Given the description of an element on the screen output the (x, y) to click on. 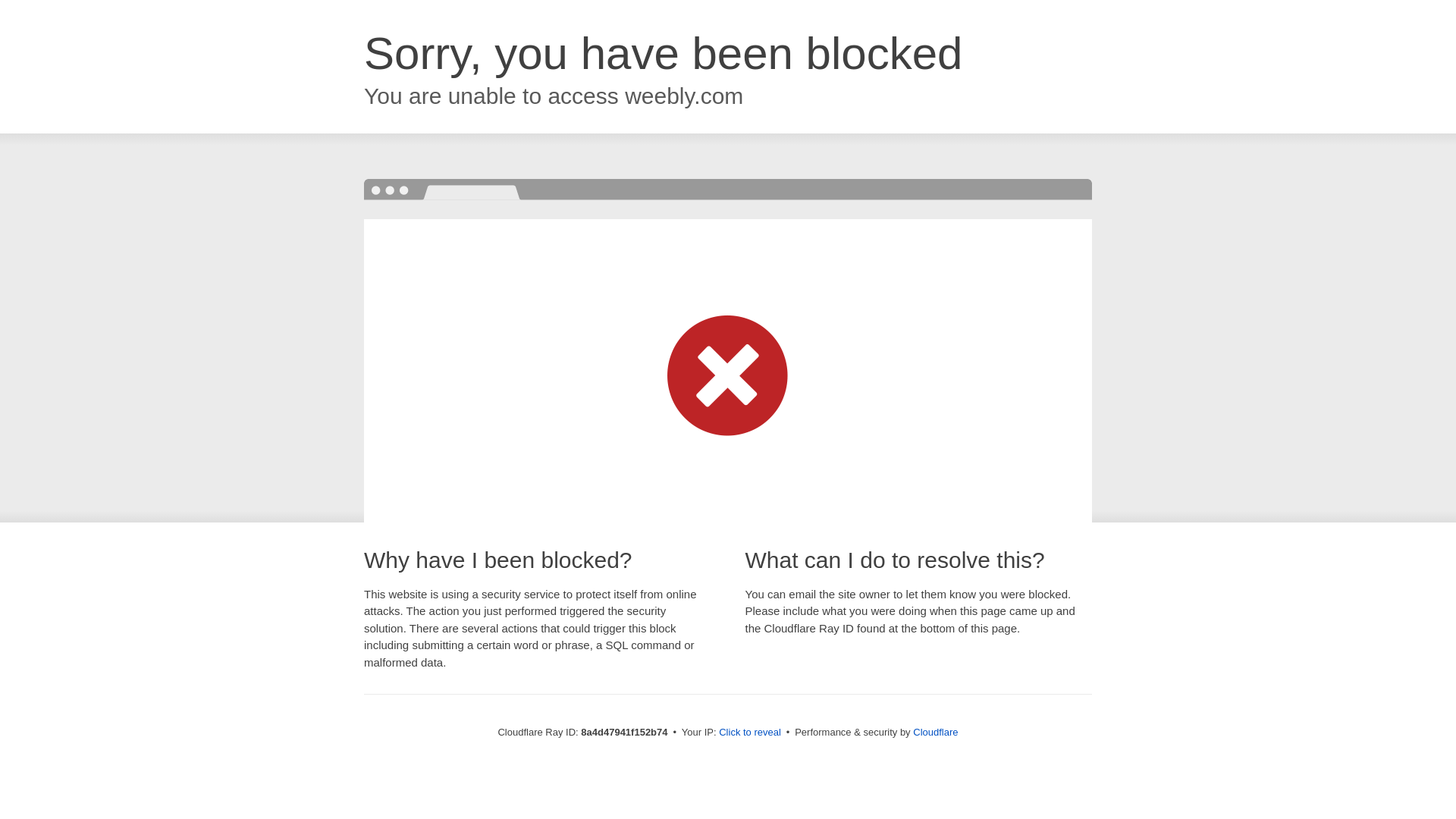
Click to reveal (749, 732)
Cloudflare (935, 731)
